Given the description of an element on the screen output the (x, y) to click on. 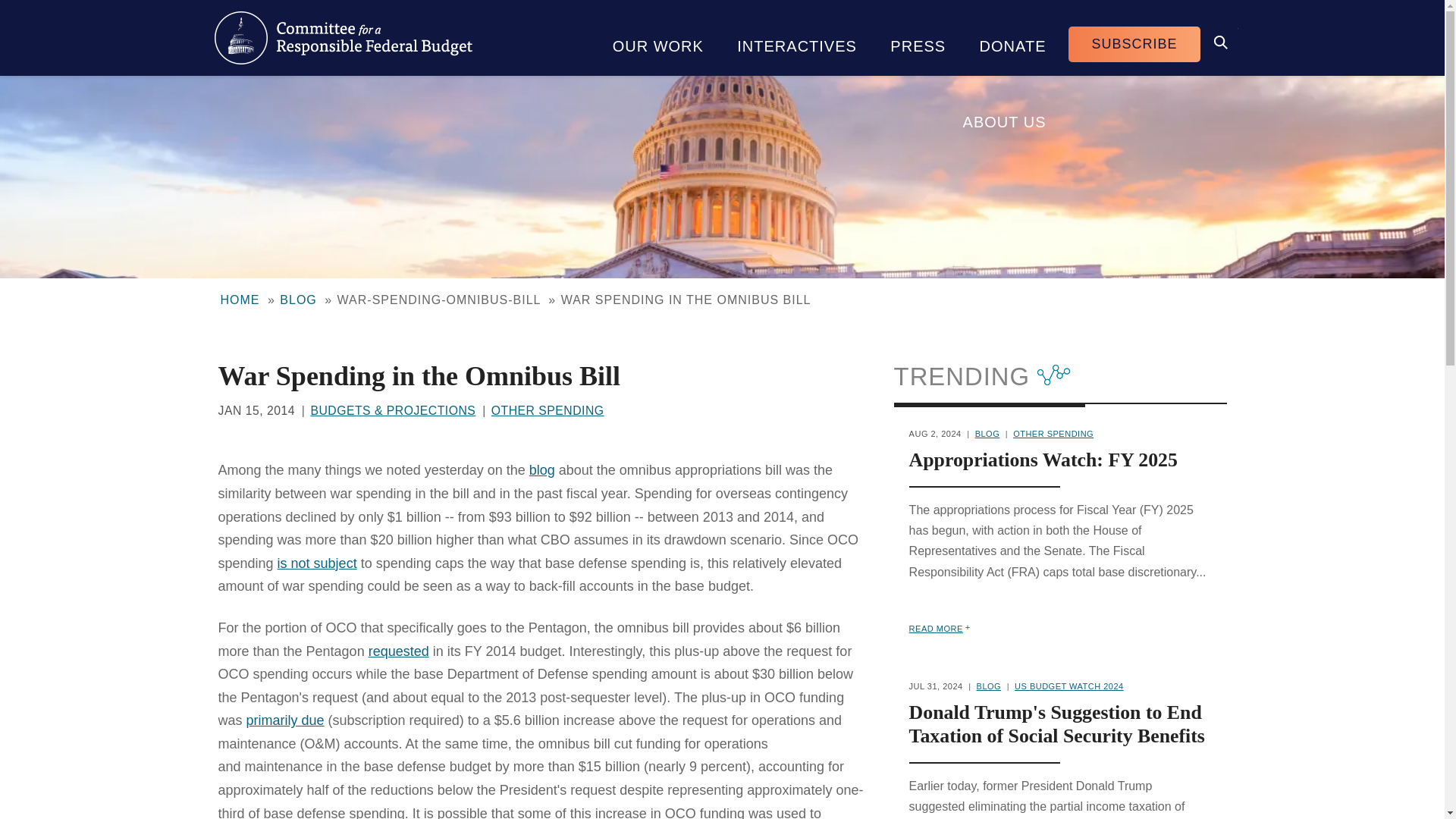
DONATE (1012, 38)
Committee for a Responsible Federal Budget (342, 37)
INTERACTIVES (797, 38)
PRESS (917, 38)
ABOUT US (1004, 113)
OUR WORK (657, 38)
